Given the description of an element on the screen output the (x, y) to click on. 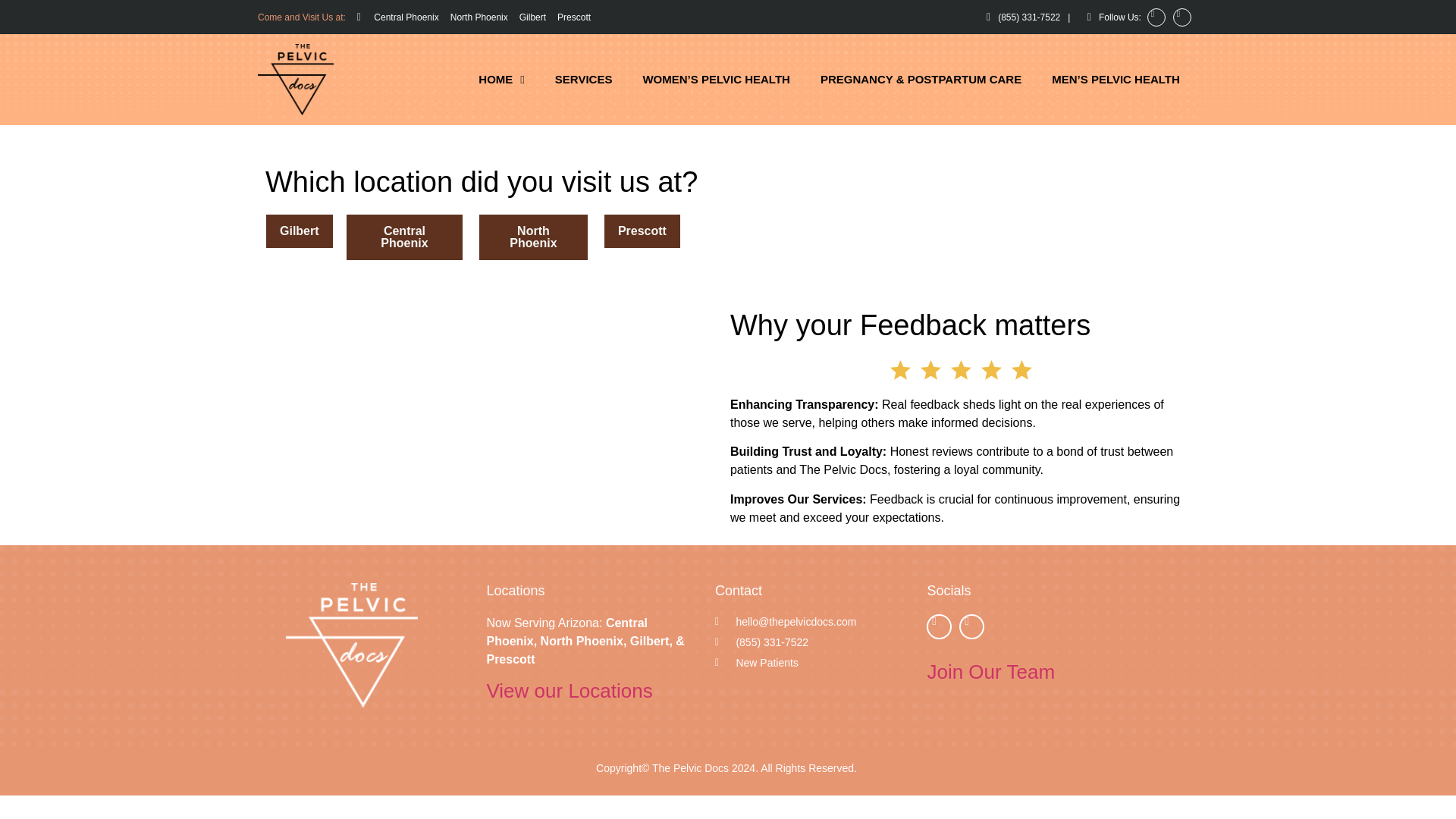
View our Locations (569, 690)
North Phoenix (478, 17)
Central Phoenix (404, 237)
Join Our Team (990, 671)
New Patients (813, 662)
Prescott (641, 231)
Central Phoenix (397, 17)
SERVICES (583, 79)
Gilbert (532, 17)
North Phoenix (533, 237)
Prescott (574, 17)
Gilbert (299, 231)
